Given the description of an element on the screen output the (x, y) to click on. 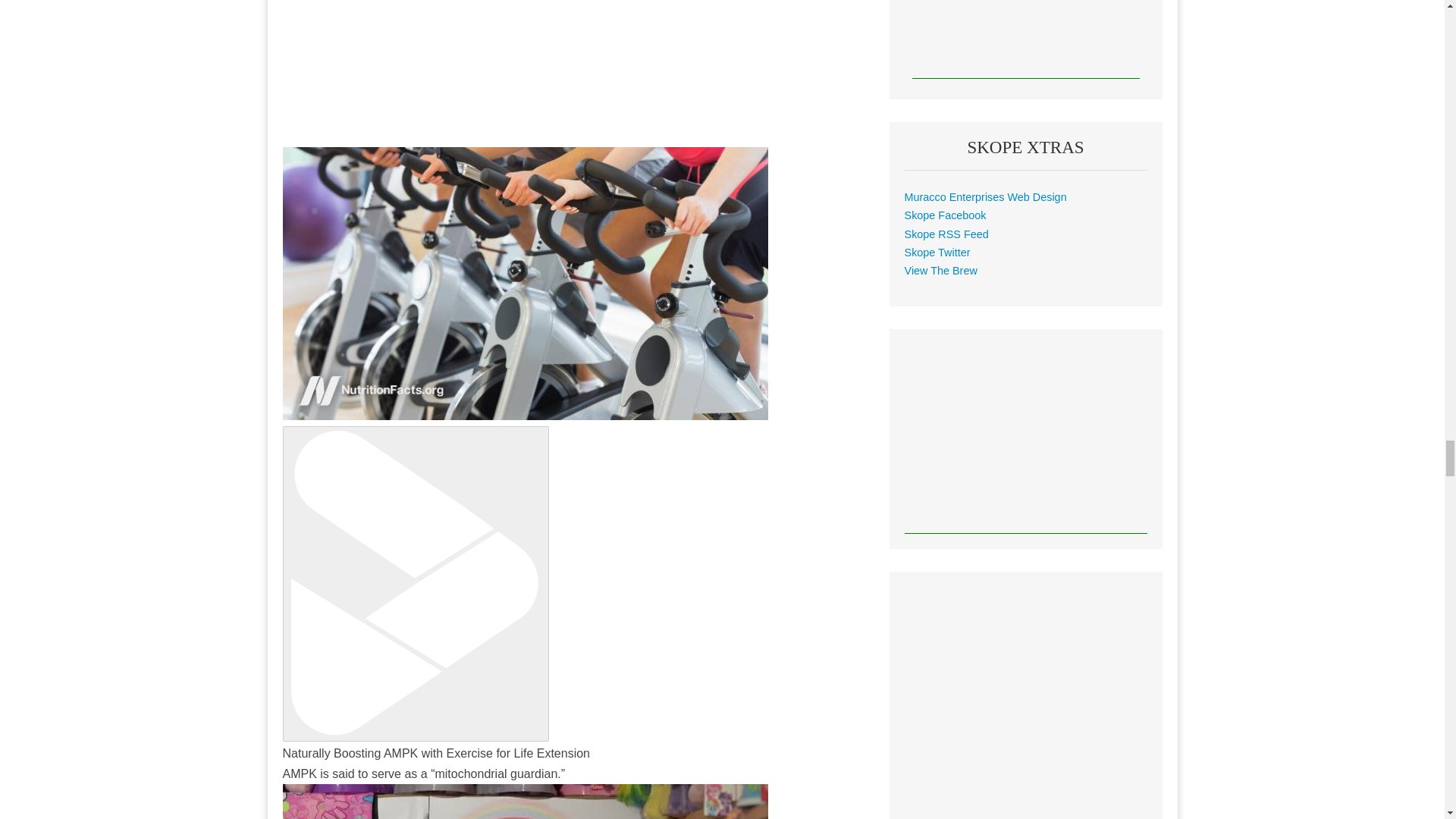
Skopemag.com RSS Feed (946, 234)
